Given the description of an element on the screen output the (x, y) to click on. 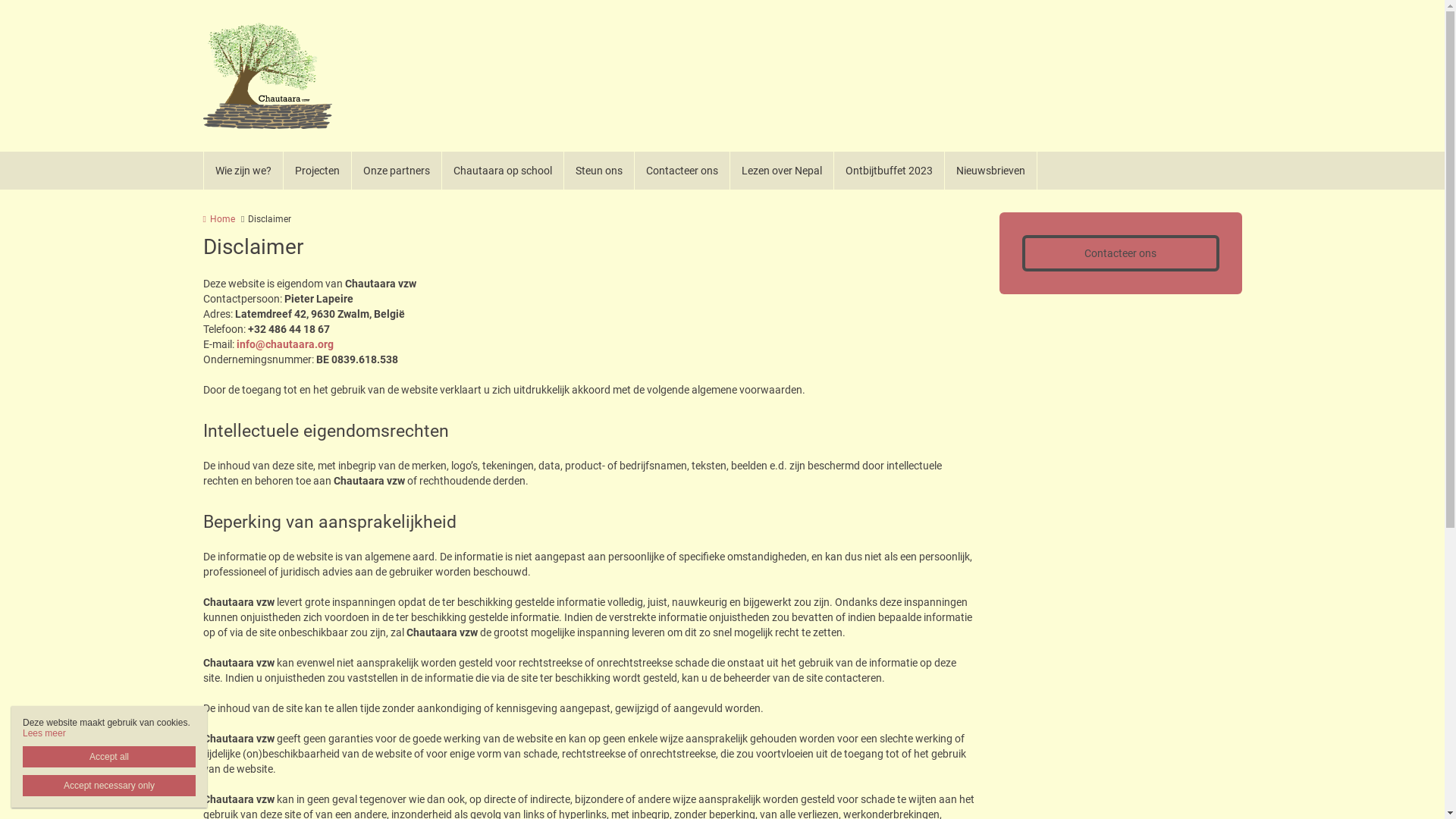
Contacteer ons Element type: text (681, 170)
Contacteer ons Element type: text (1120, 253)
Lezen over Nepal Element type: text (781, 170)
Overslaan en naar de inhoud gaan Element type: text (81, 0)
Wie zijn we? Element type: text (242, 170)
Accept necessary only Element type: text (108, 785)
Accept all Element type: text (108, 756)
Home | Chautaara Element type: hover (267, 75)
Chautaara op school Element type: text (502, 170)
Onze partners Element type: text (396, 170)
Steun ons Element type: text (599, 170)
Ontbijtbuffet 2023 Element type: text (889, 170)
Home | Chautaara Element type: hover (290, 75)
Home Element type: text (219, 218)
Lees meer Element type: text (43, 733)
Nieuwsbrieven Element type: text (990, 170)
Projecten Element type: text (317, 170)
info@chautaara.org Element type: text (284, 344)
